Given the description of an element on the screen output the (x, y) to click on. 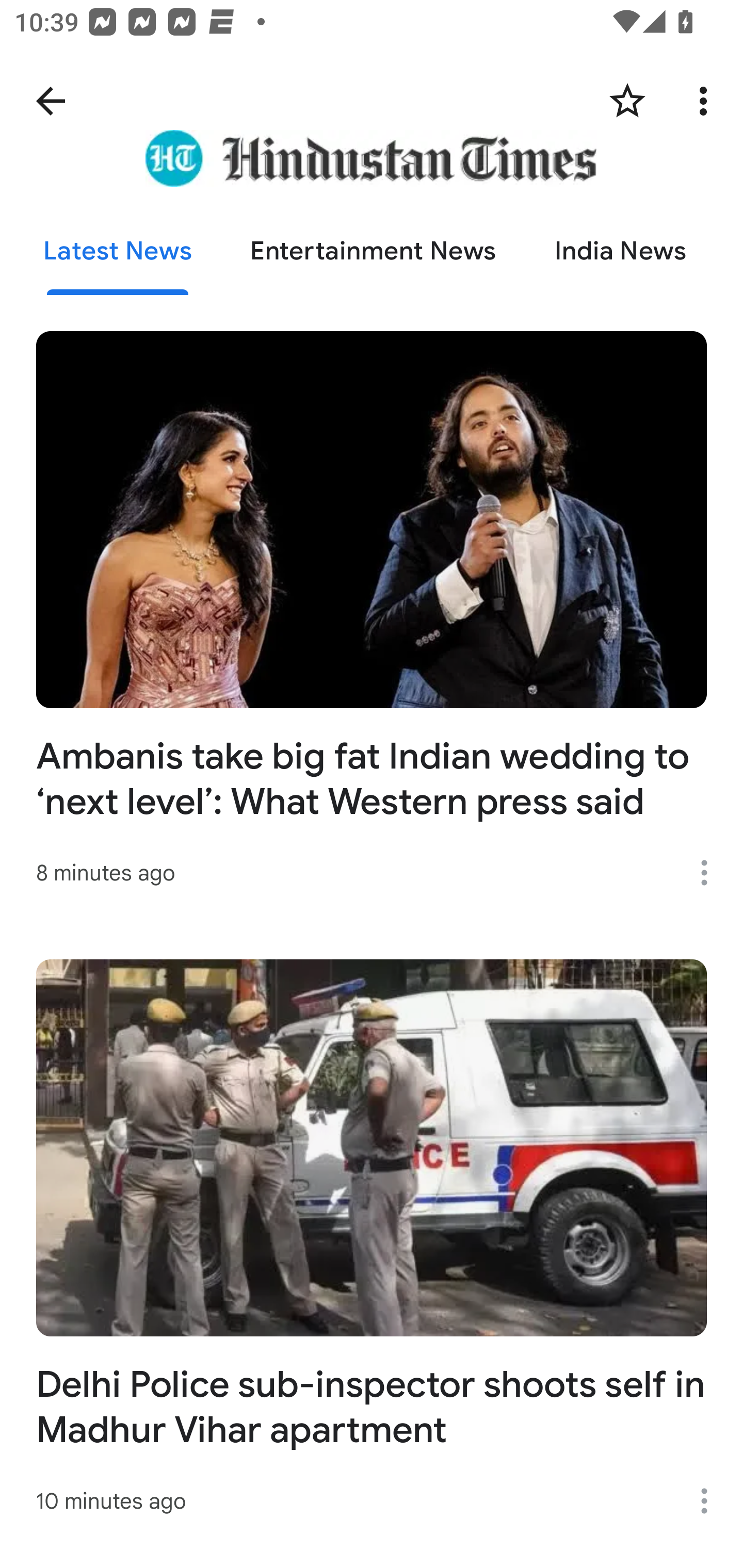
Navigate up (50, 101)
Follow (626, 101)
More options (706, 101)
Entertainment News (373, 251)
India News (619, 251)
More options (711, 872)
More options (711, 1501)
